Given the description of an element on the screen output the (x, y) to click on. 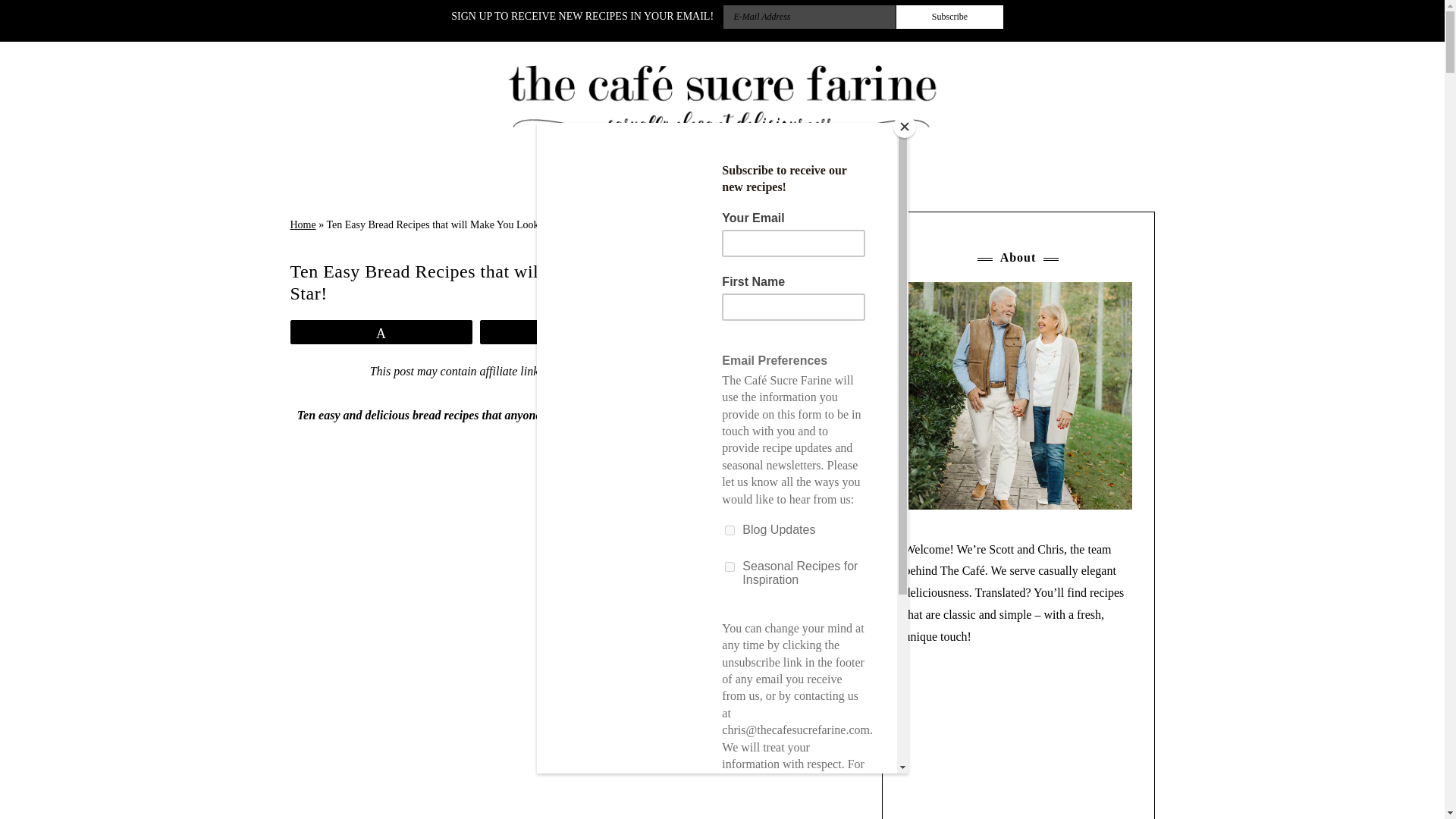
privacy policy (734, 370)
Subscribe (950, 16)
Home (302, 224)
Subscribe (950, 16)
Contact Us (727, 175)
About (642, 175)
Home (569, 175)
Search (32, 15)
Recipes (817, 175)
